Given the description of an element on the screen output the (x, y) to click on. 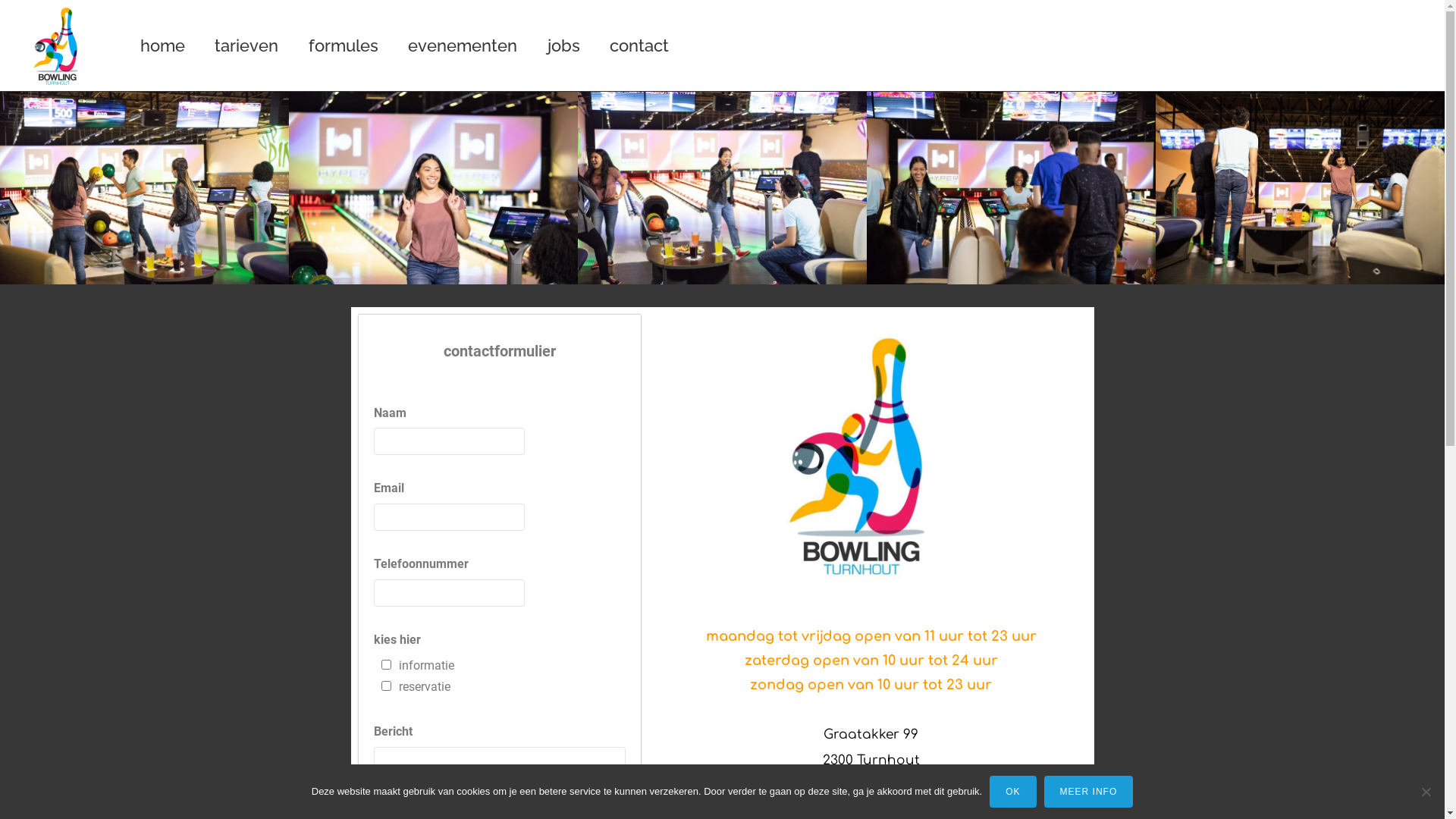
formules Element type: text (343, 45)
tarieven Element type: text (246, 45)
evenementen Element type: text (462, 45)
jobs Element type: text (563, 45)
Nee Element type: hover (1425, 791)
home Element type: text (162, 45)
MEER INFO Element type: text (1088, 791)
contact Element type: text (639, 45)
OK Element type: text (1012, 791)
